Given the description of an element on the screen output the (x, y) to click on. 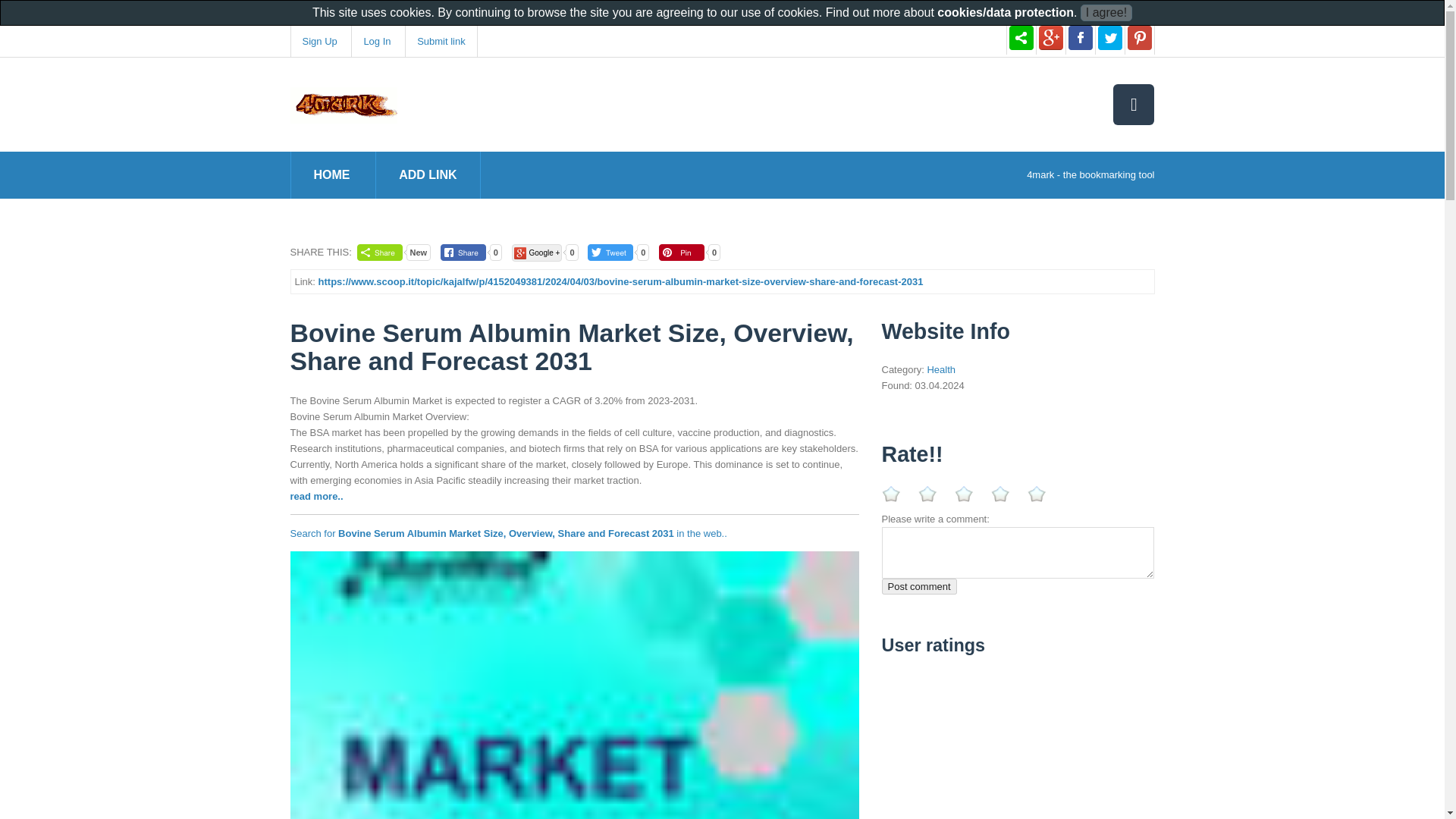
read more.. (315, 496)
ADD LINK (427, 174)
Sign Up (318, 40)
Submit link (440, 40)
Log In (375, 40)
I agree! (1106, 12)
Post comment (918, 586)
HOME (332, 174)
